Given the description of an element on the screen output the (x, y) to click on. 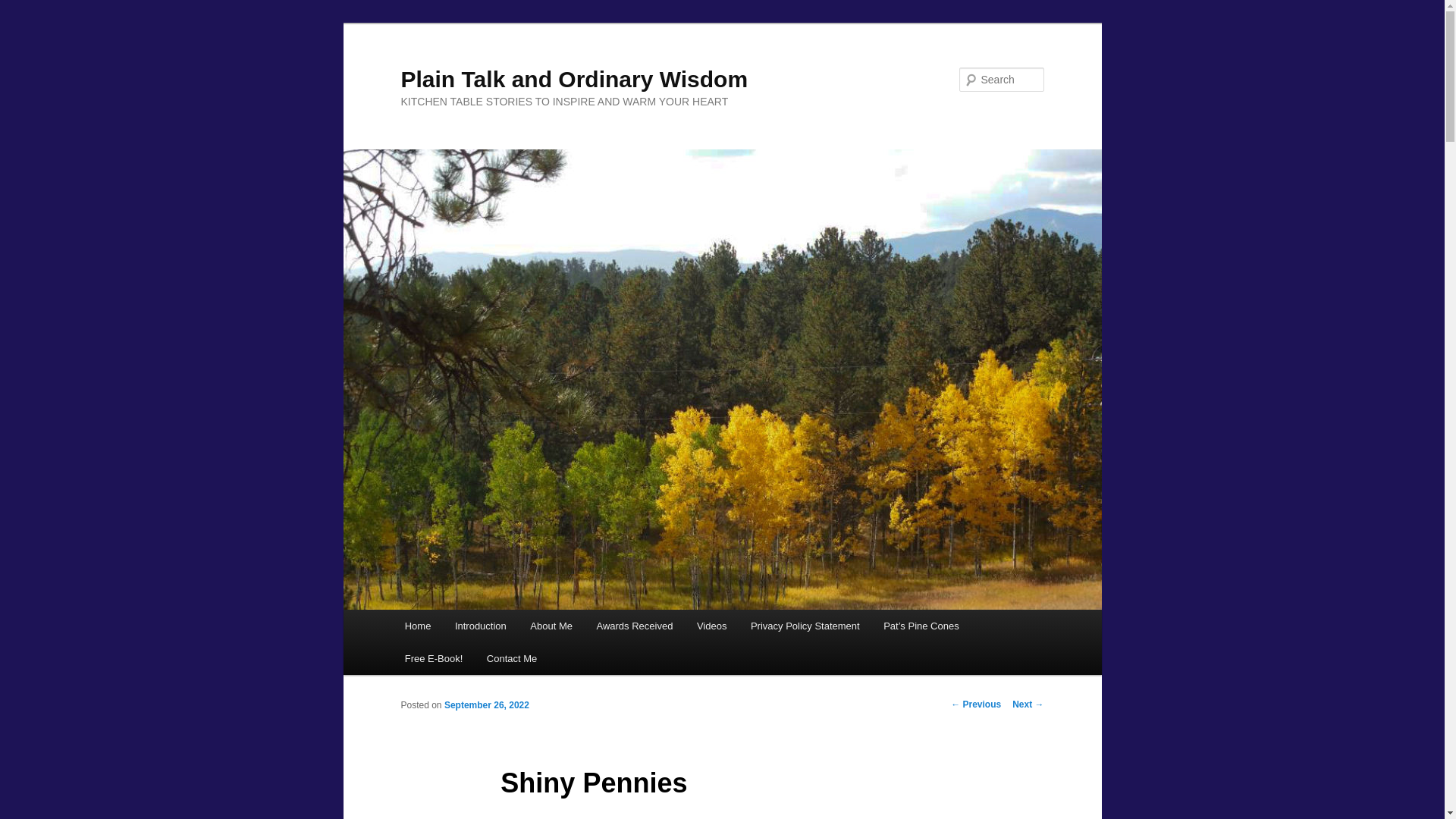
Plain Talk and Ordinary Wisdom (574, 78)
Privacy Policy Statement (804, 625)
About Me (551, 625)
Home (417, 625)
Free E-Book! (433, 658)
Search (24, 8)
Awards Received (634, 625)
Videos (711, 625)
Introduction (480, 625)
Contact Me (511, 658)
September 26, 2022 (486, 705)
2:33 pm (486, 705)
